Given the description of an element on the screen output the (x, y) to click on. 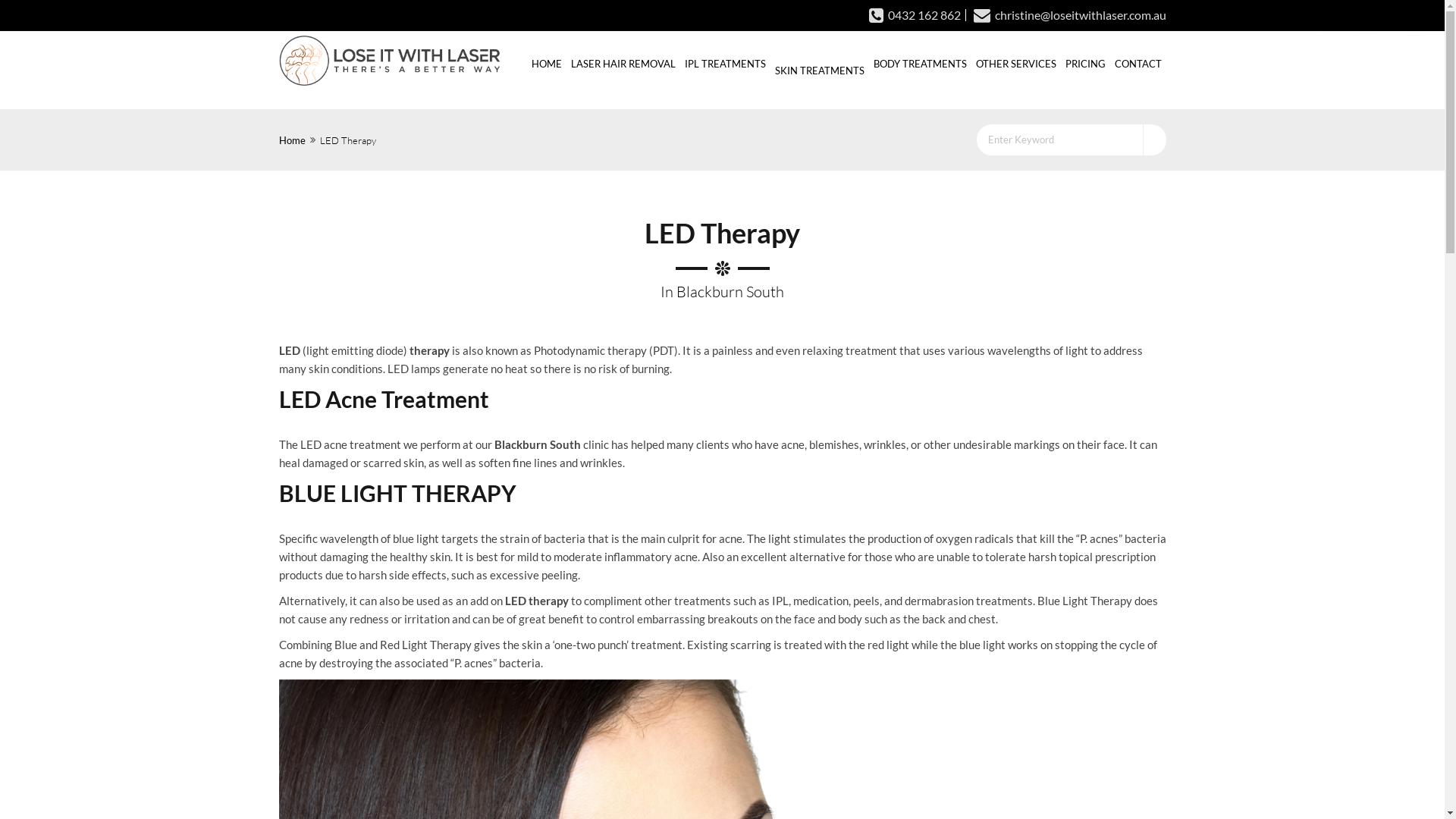
HOME Element type: text (545, 62)
BODY TREATMENTS Element type: text (920, 62)
CONTACT Element type: text (1138, 62)
LASER HAIR REMOVAL Element type: text (622, 62)
Home Element type: text (292, 139)
christine@loseitwithlaser.com.au Element type: text (1064, 15)
Lose It With Laser Element type: hover (390, 61)
Lose It With Laser Element type: hover (390, 60)
0432 162 862 Element type: text (914, 15)
